Given the description of an element on the screen output the (x, y) to click on. 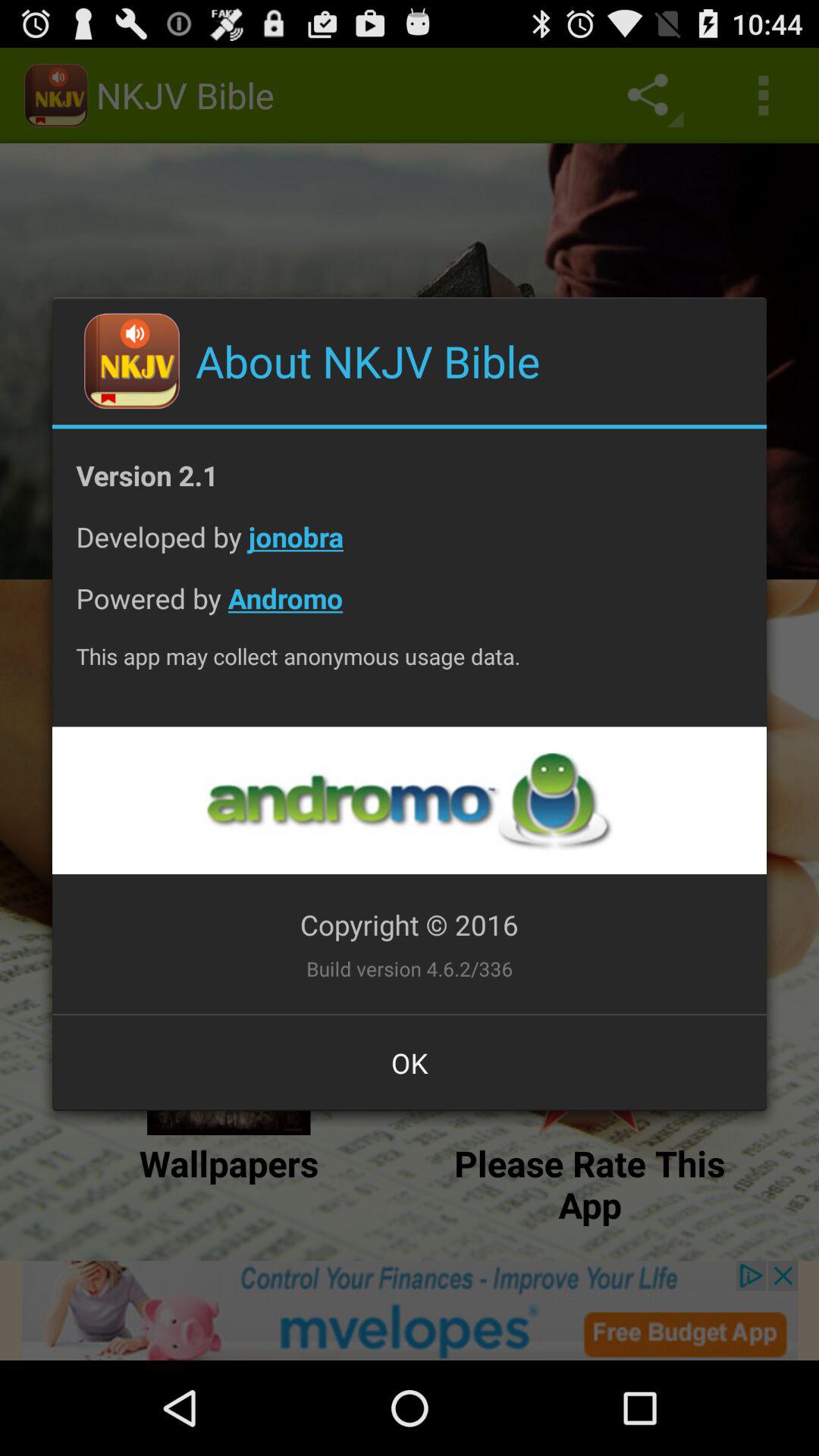
select the ok icon (409, 1062)
